Given the description of an element on the screen output the (x, y) to click on. 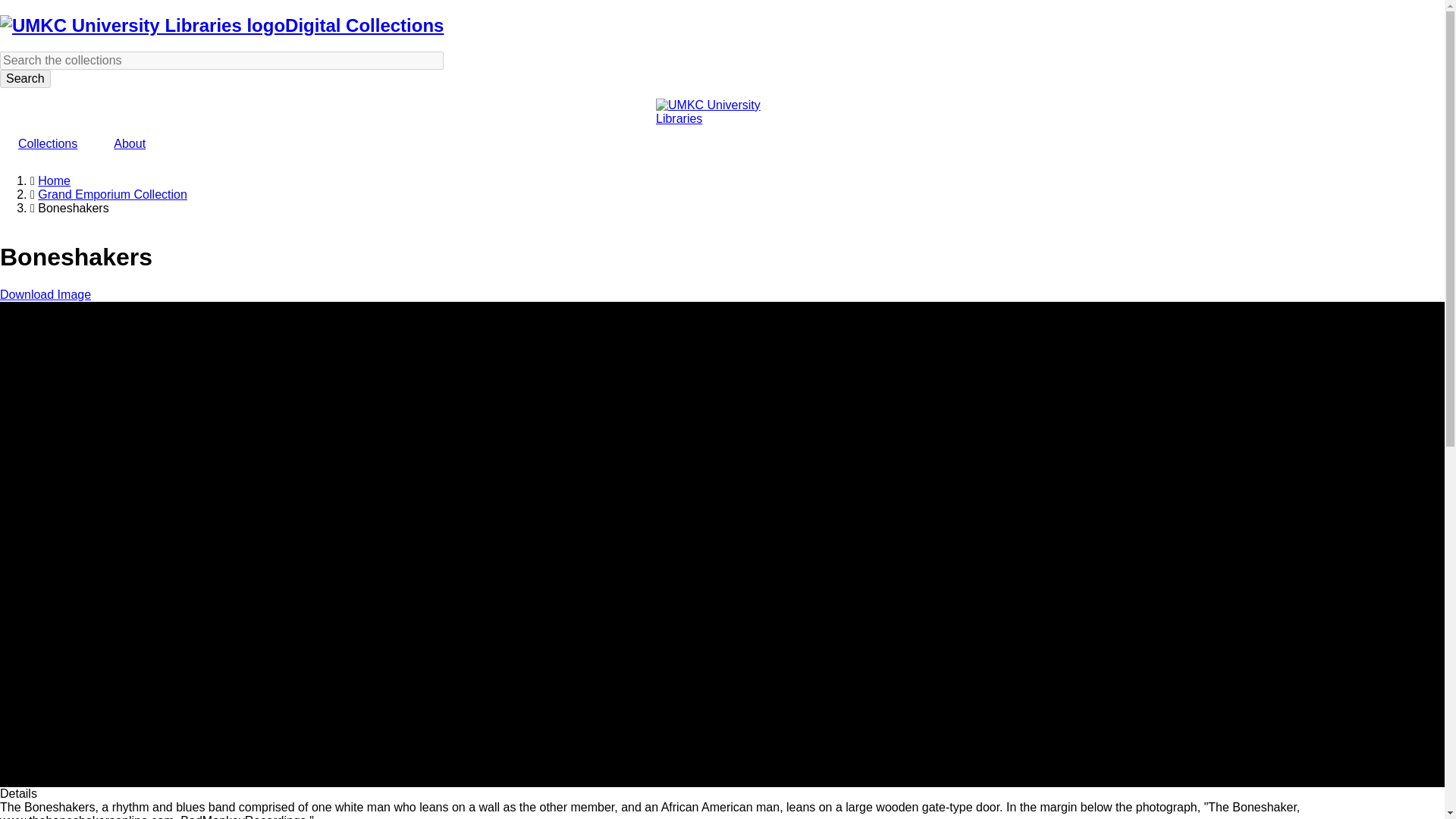
Search (25, 78)
Collections (48, 144)
Download Image (45, 294)
Search (25, 78)
Digital Collections (364, 25)
Download copy of image file (45, 294)
Grand Emporium Collection (112, 194)
About (129, 144)
Home (53, 180)
